Given the description of an element on the screen output the (x, y) to click on. 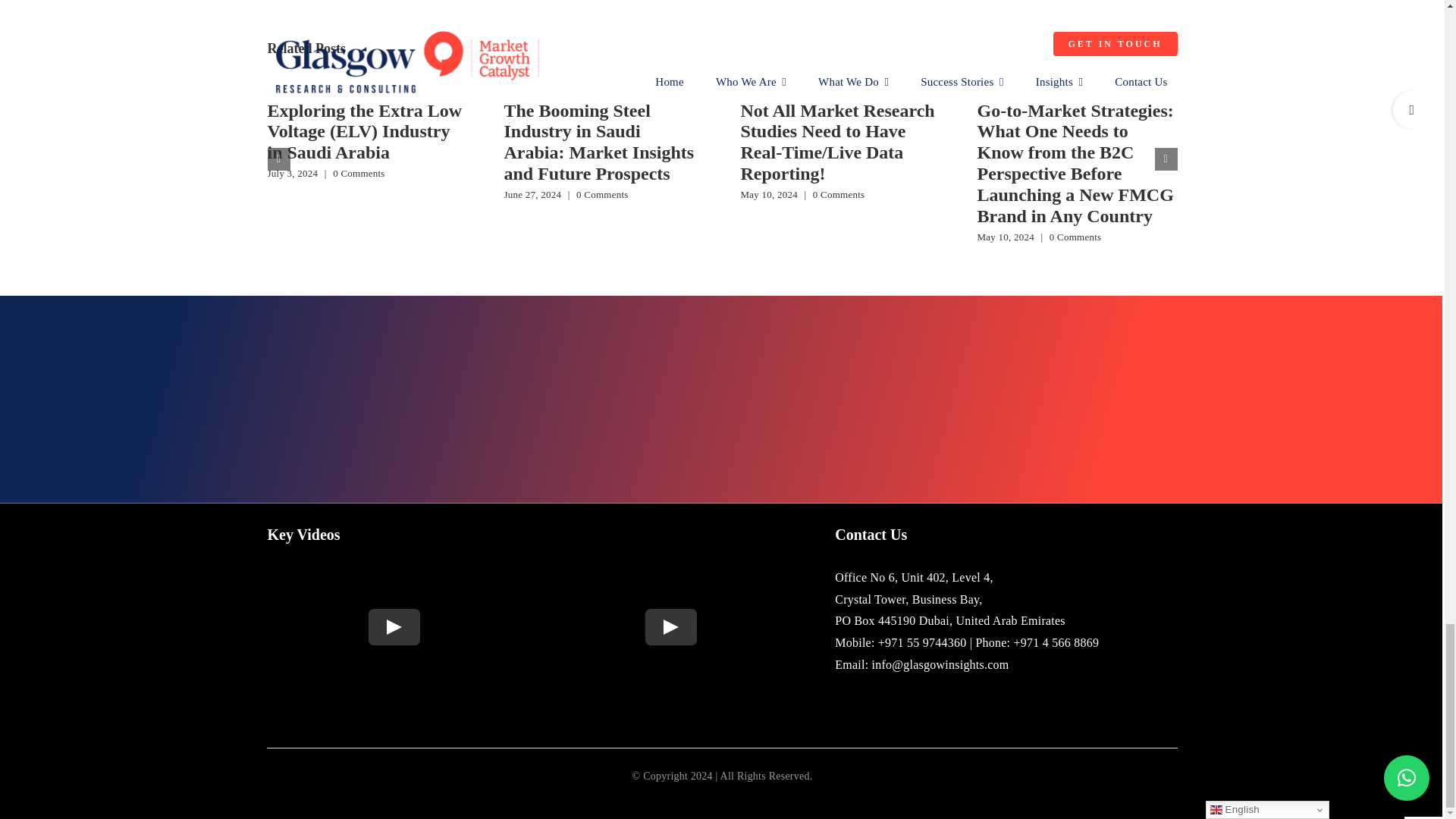
YouTube video player 1 (393, 626)
YouTube video player 2 (670, 626)
